Given the description of an element on the screen output the (x, y) to click on. 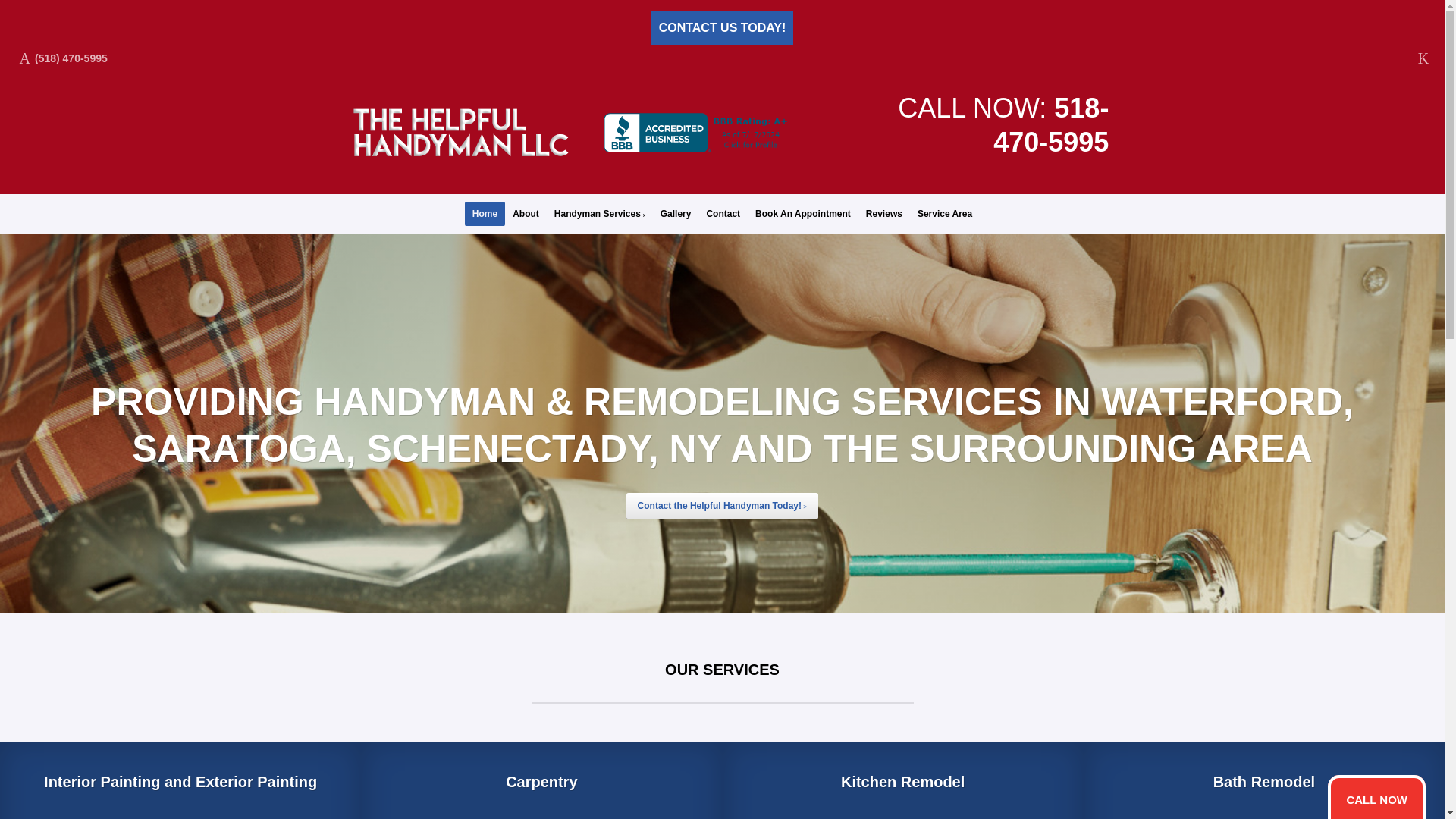
Carpentry (540, 781)
CONTACT US TODAY! (721, 28)
Interior Painting and Exterior Painting (180, 781)
About (526, 213)
Contact the Helpful Handyman Today! (722, 506)
Home (484, 213)
Book An Appointment (803, 213)
Kitchen Remodel (902, 781)
Service Area (944, 213)
Contact (723, 213)
Bath Remodel (1263, 781)
Reviews (884, 213)
Facebook (1423, 57)
Gallery (675, 213)
